Given the description of an element on the screen output the (x, y) to click on. 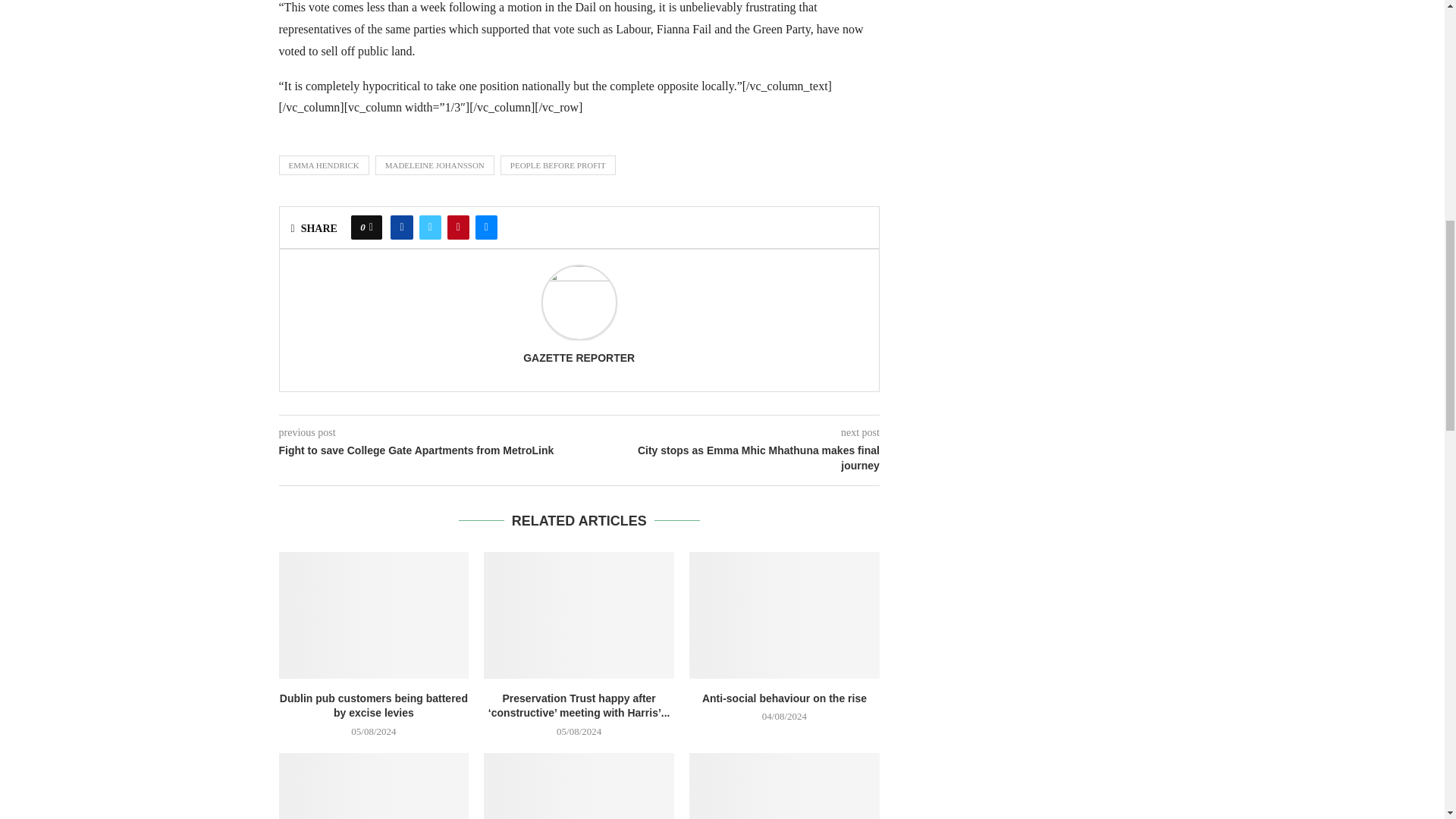
Tidy Towns applaud blooming success of volunteers in village (373, 785)
Ann Graves on the way back (783, 785)
Author Gazette Reporter (578, 357)
Dublin pub customers being battered by excise levies (373, 615)
